Given the description of an element on the screen output the (x, y) to click on. 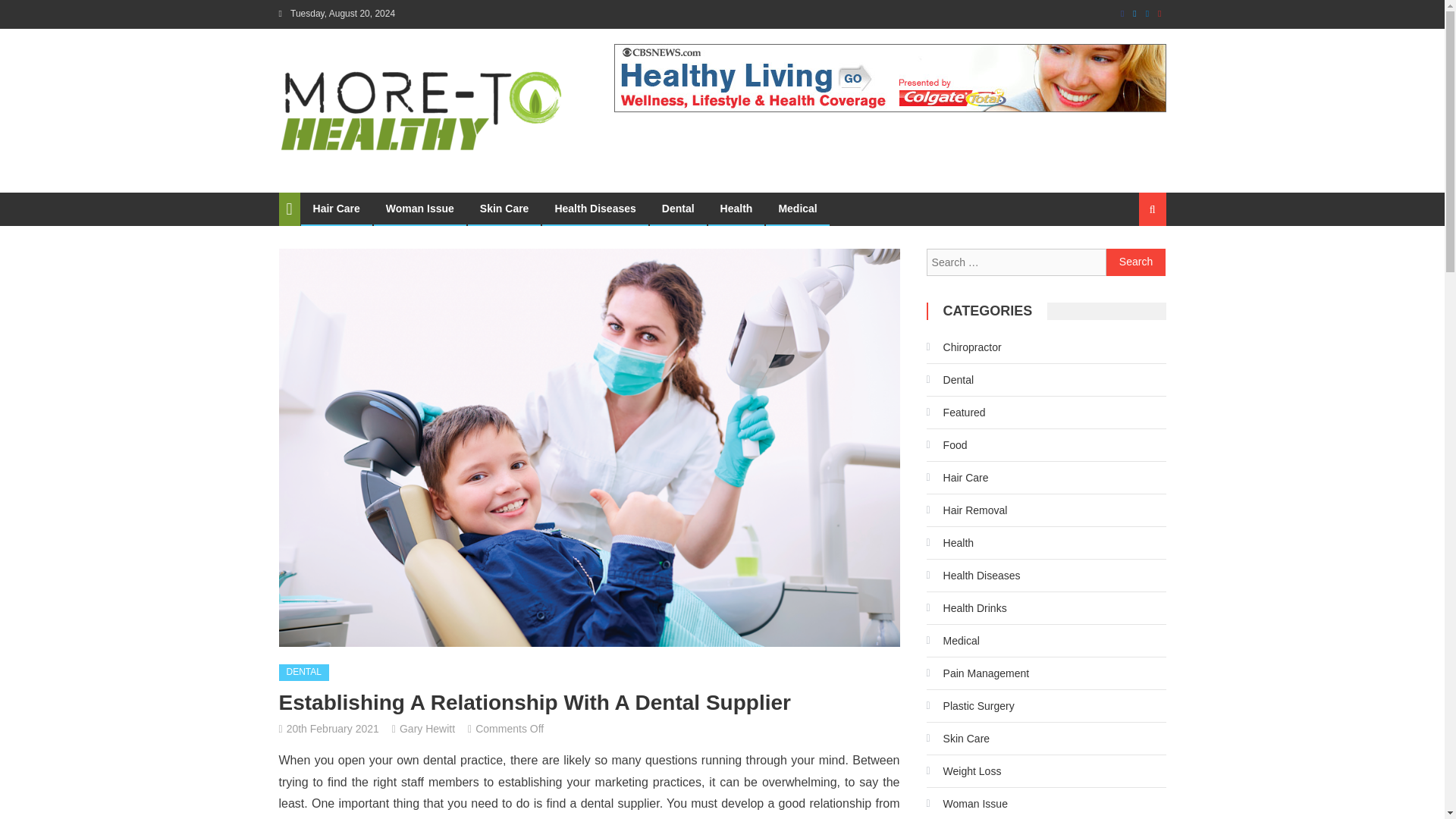
Dental (678, 208)
Hair Care (336, 208)
Search (1136, 262)
Gary Hewitt (426, 728)
Woman Issue (419, 208)
Health (736, 208)
Search (1136, 262)
Health Diseases (594, 208)
Medical (797, 208)
Search (1133, 262)
